Given the description of an element on the screen output the (x, y) to click on. 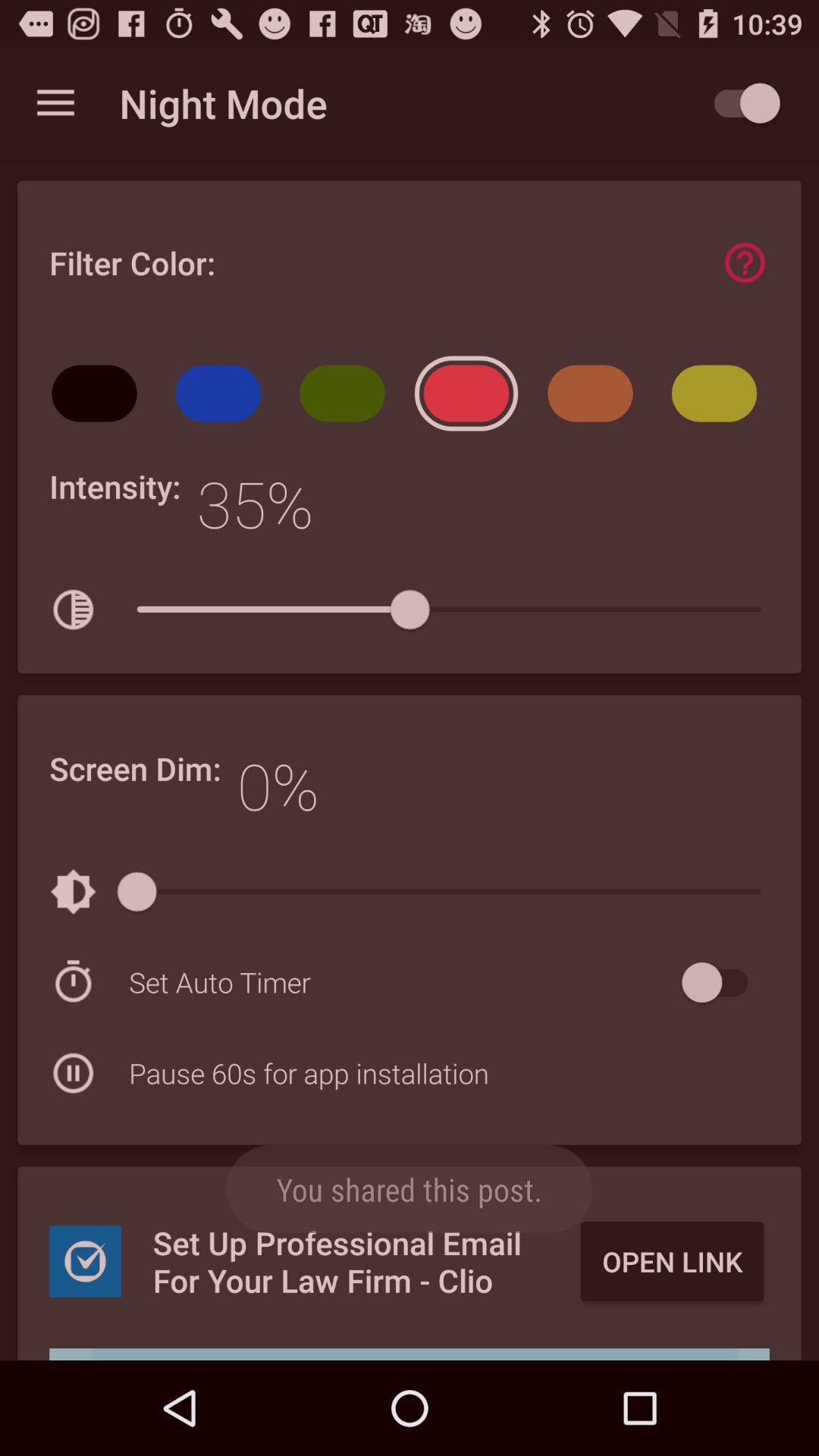
icon page (744, 262)
